Given the description of an element on the screen output the (x, y) to click on. 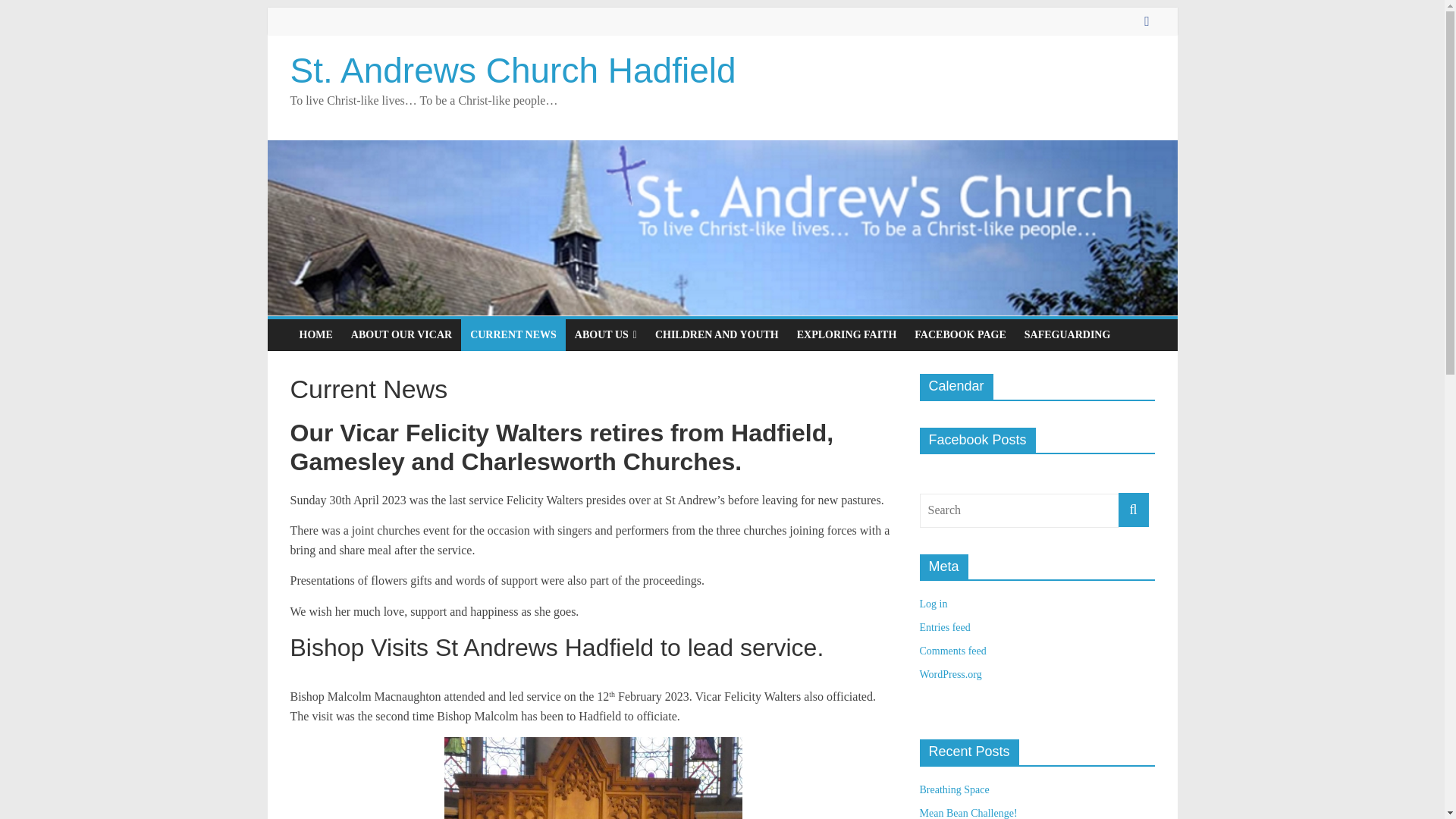
Breathing Space (953, 789)
Log in (932, 603)
HOME (314, 335)
Mean Bean Challenge! (967, 813)
ABOUT US (606, 335)
SAFEGUARDING (1066, 335)
St. Andrews Church Hadfield (512, 70)
CURRENT NEWS (513, 335)
FACEBOOK PAGE (959, 335)
EXPLORING FAITH (846, 335)
St. Andrews Church Hadfield (512, 70)
Entries feed (943, 627)
CHILDREN AND YOUTH (716, 335)
ABOUT OUR VICAR (401, 335)
Comments feed (951, 650)
